Given the description of an element on the screen output the (x, y) to click on. 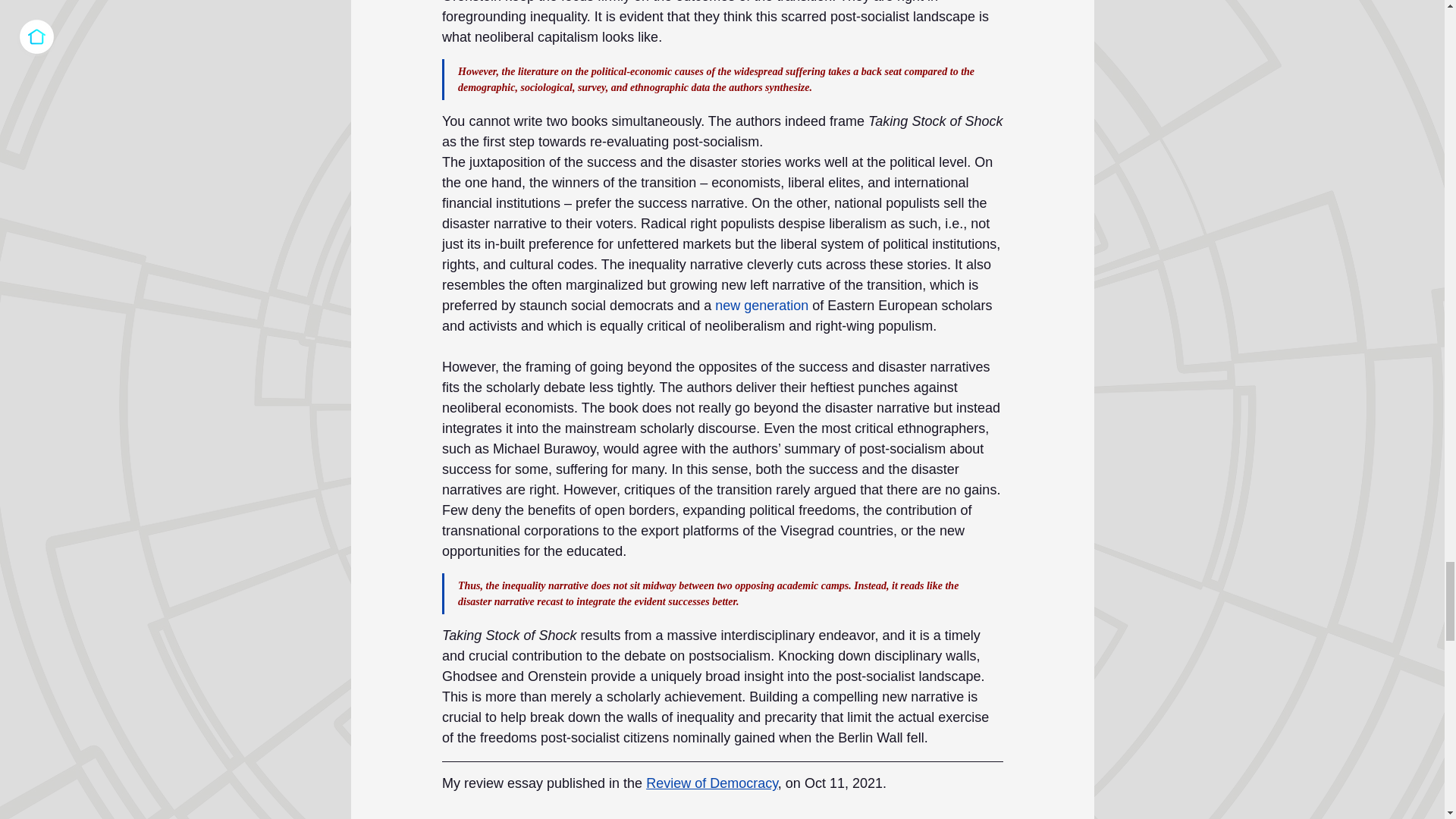
new generation (761, 305)
Review of Democracy (711, 783)
